Given the description of an element on the screen output the (x, y) to click on. 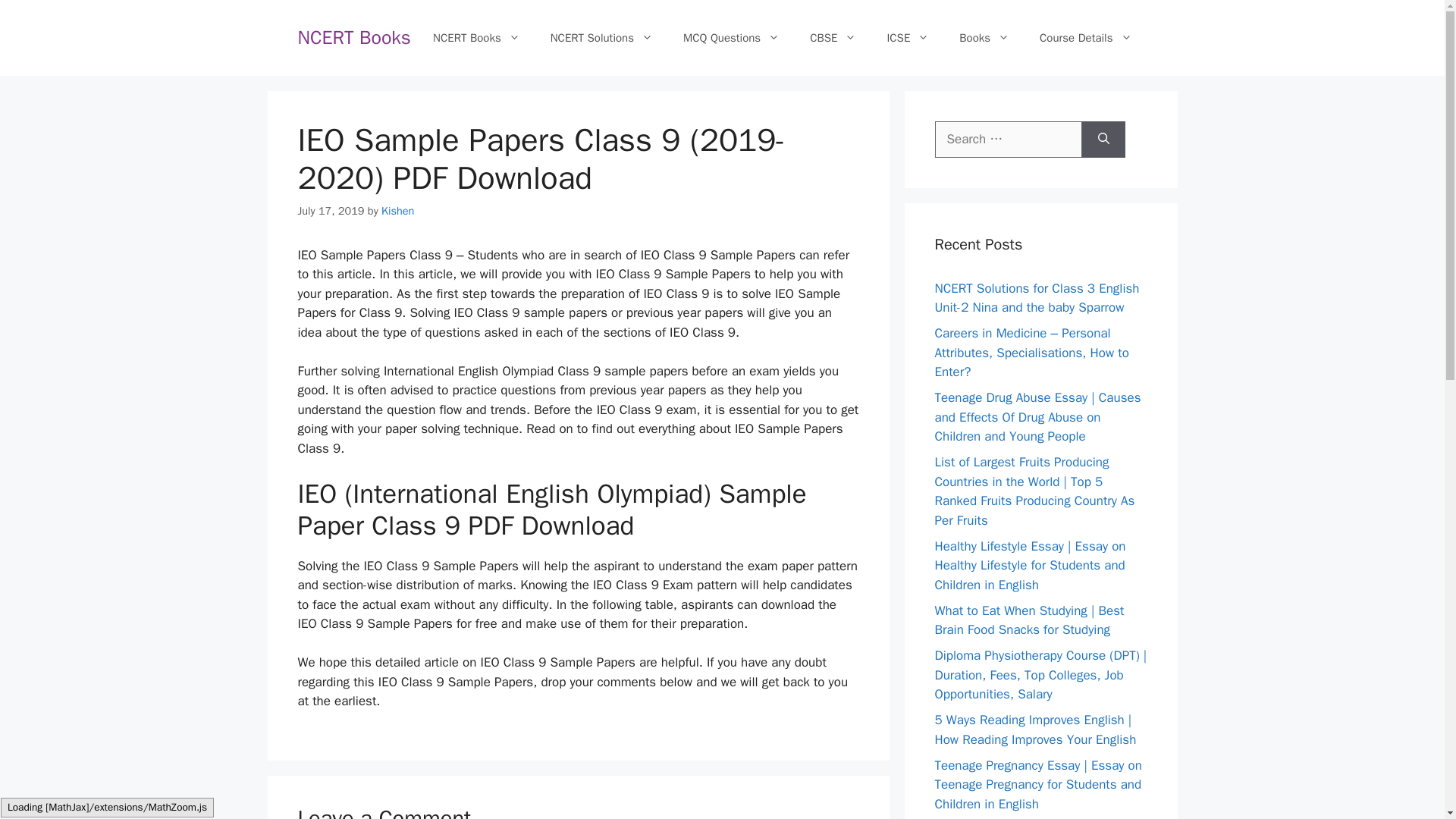
Search for: (1007, 139)
View all posts by Kishen (397, 210)
MCQ Questions (731, 37)
NCERT Solutions (601, 37)
NCERT Books (476, 37)
NCERT Books (353, 37)
CBSE (832, 37)
